Given the description of an element on the screen output the (x, y) to click on. 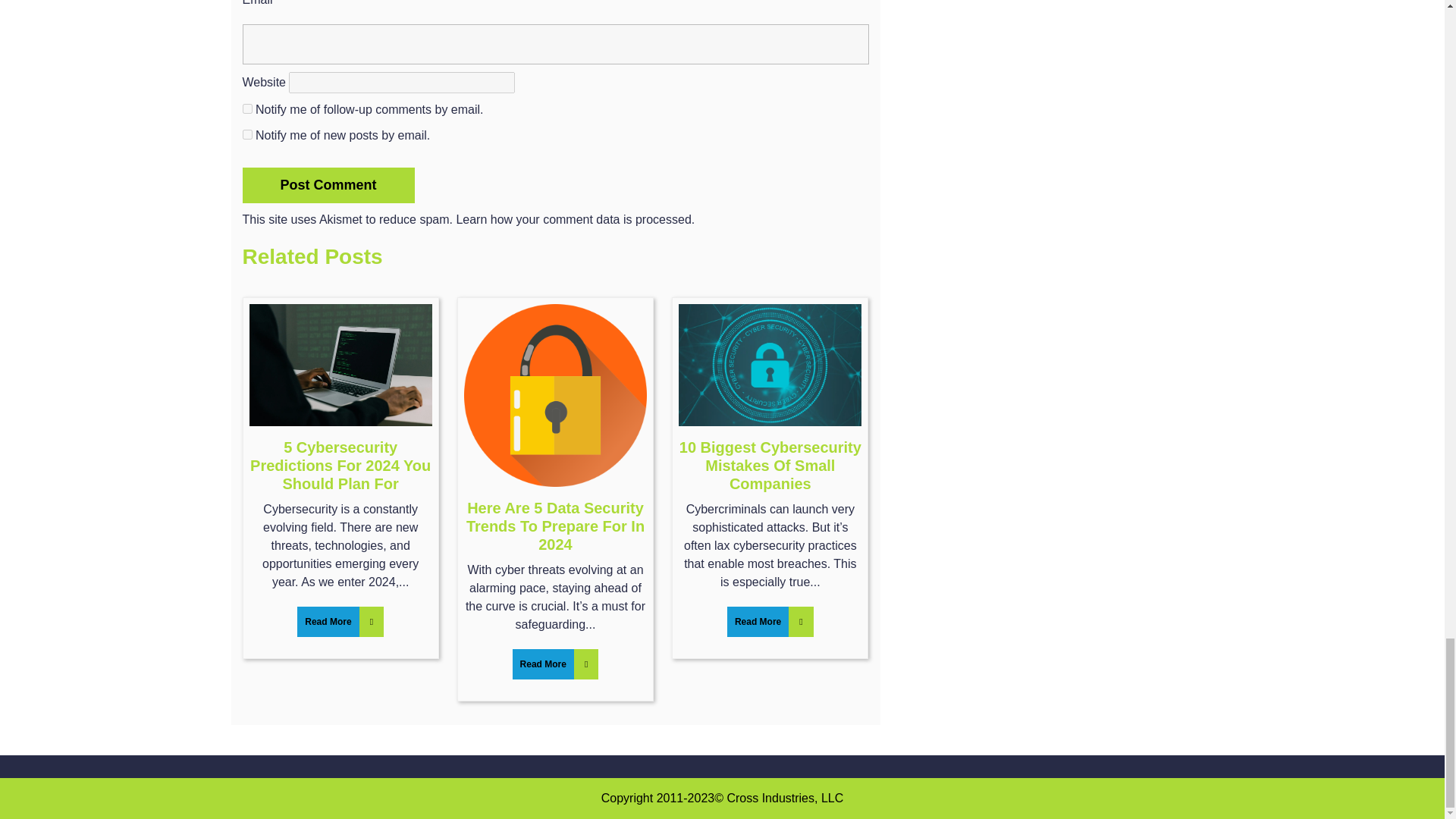
subscribe (247, 134)
Post Comment (328, 185)
subscribe (247, 108)
